Given the description of an element on the screen output the (x, y) to click on. 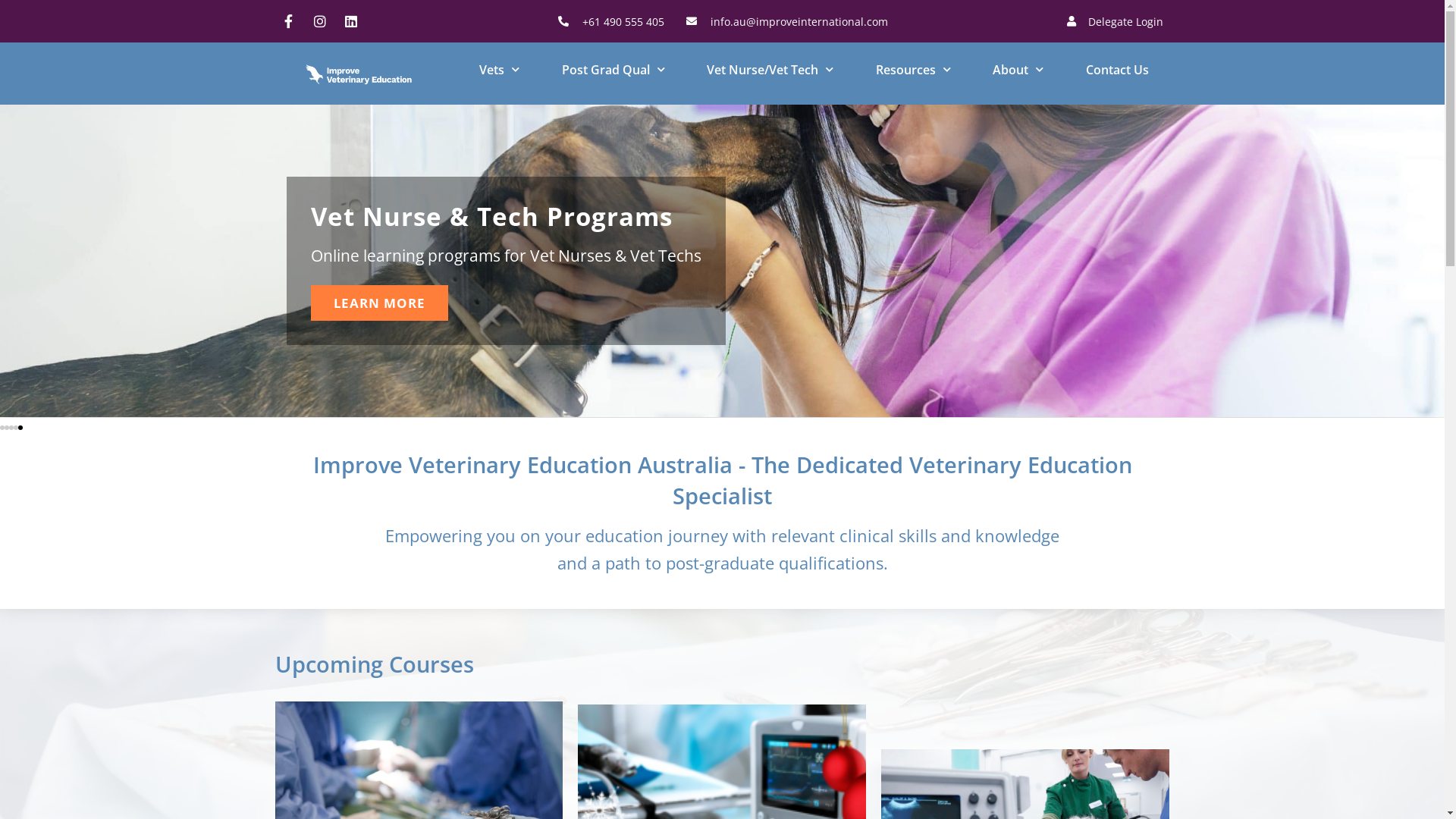
Contact Us Element type: text (1117, 69)
About Element type: text (1017, 69)
Vets Element type: text (499, 69)
+61 490 555 405 Element type: text (610, 21)
Delegate Login Element type: text (1113, 21)
Resources Element type: text (913, 69)
Post Grad Qual Element type: text (613, 69)
info.au@improveinternational.com Element type: text (786, 21)
Vet Nurse/Vet Tech Element type: text (769, 69)
